Given the description of an element on the screen output the (x, y) to click on. 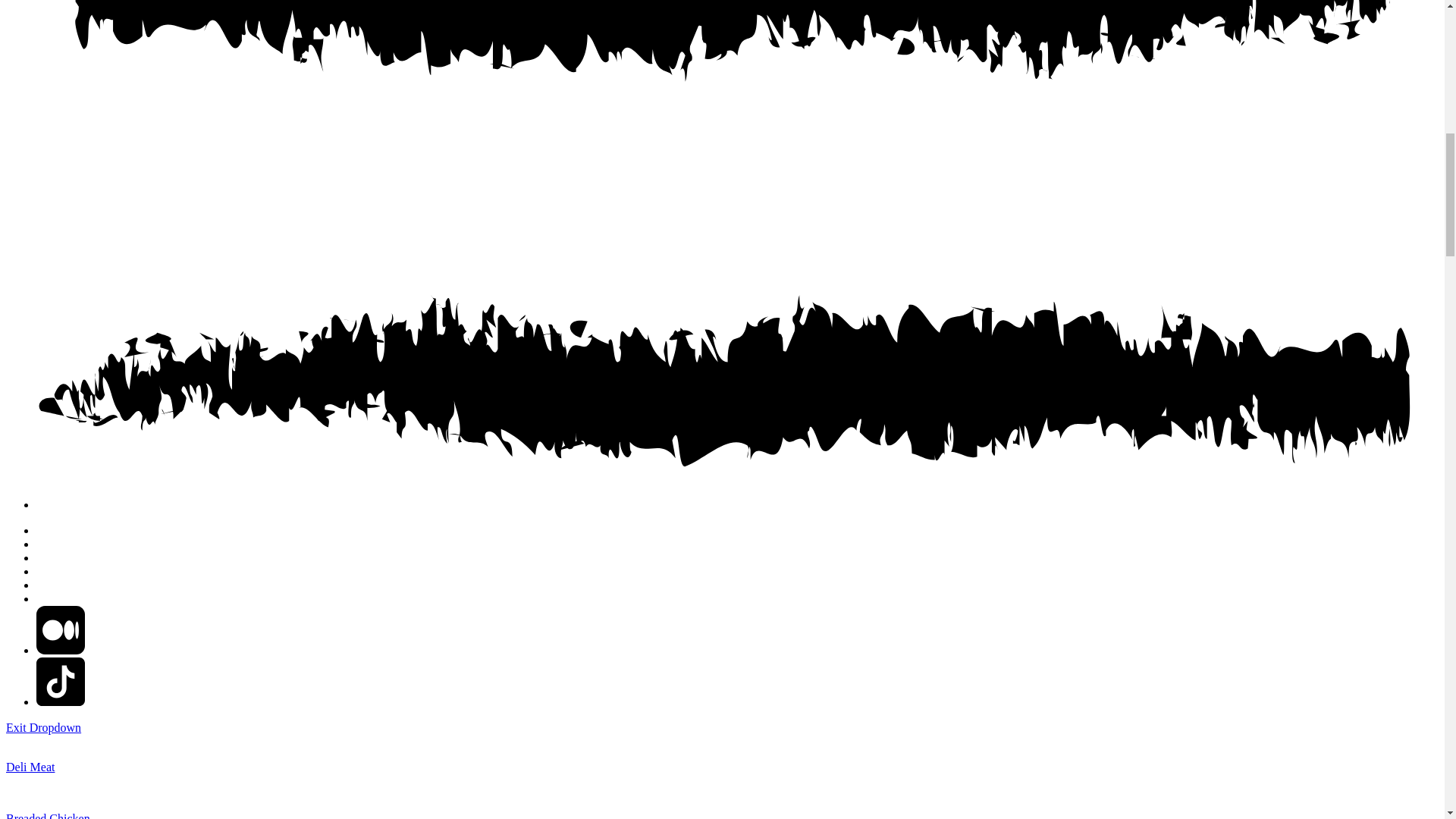
Exit Dropdown (43, 727)
